Given the description of an element on the screen output the (x, y) to click on. 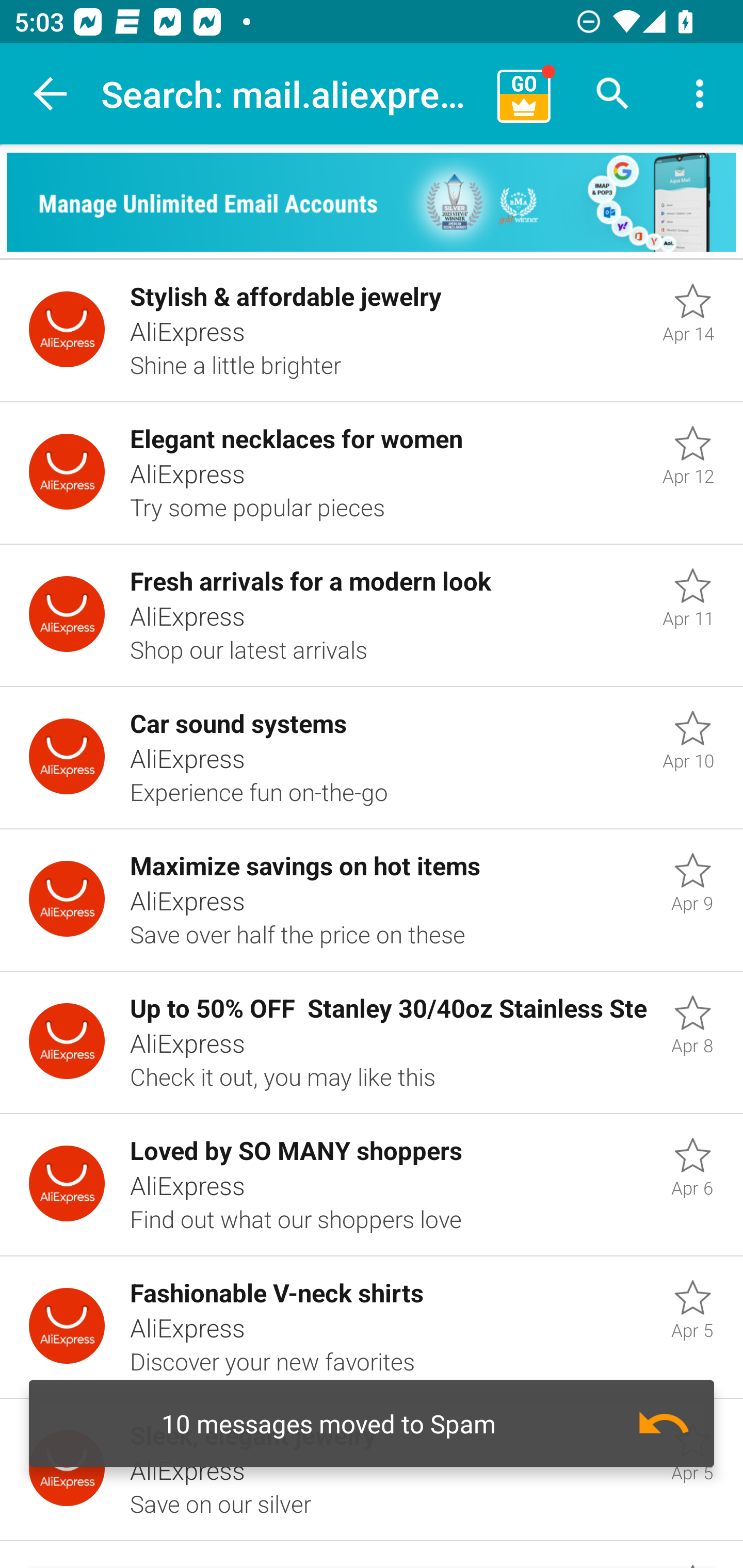
Navigate up (50, 93)
Search (612, 93)
More options (699, 93)
Undo 10 messages moved to Spam (371, 1423)
